Given the description of an element on the screen output the (x, y) to click on. 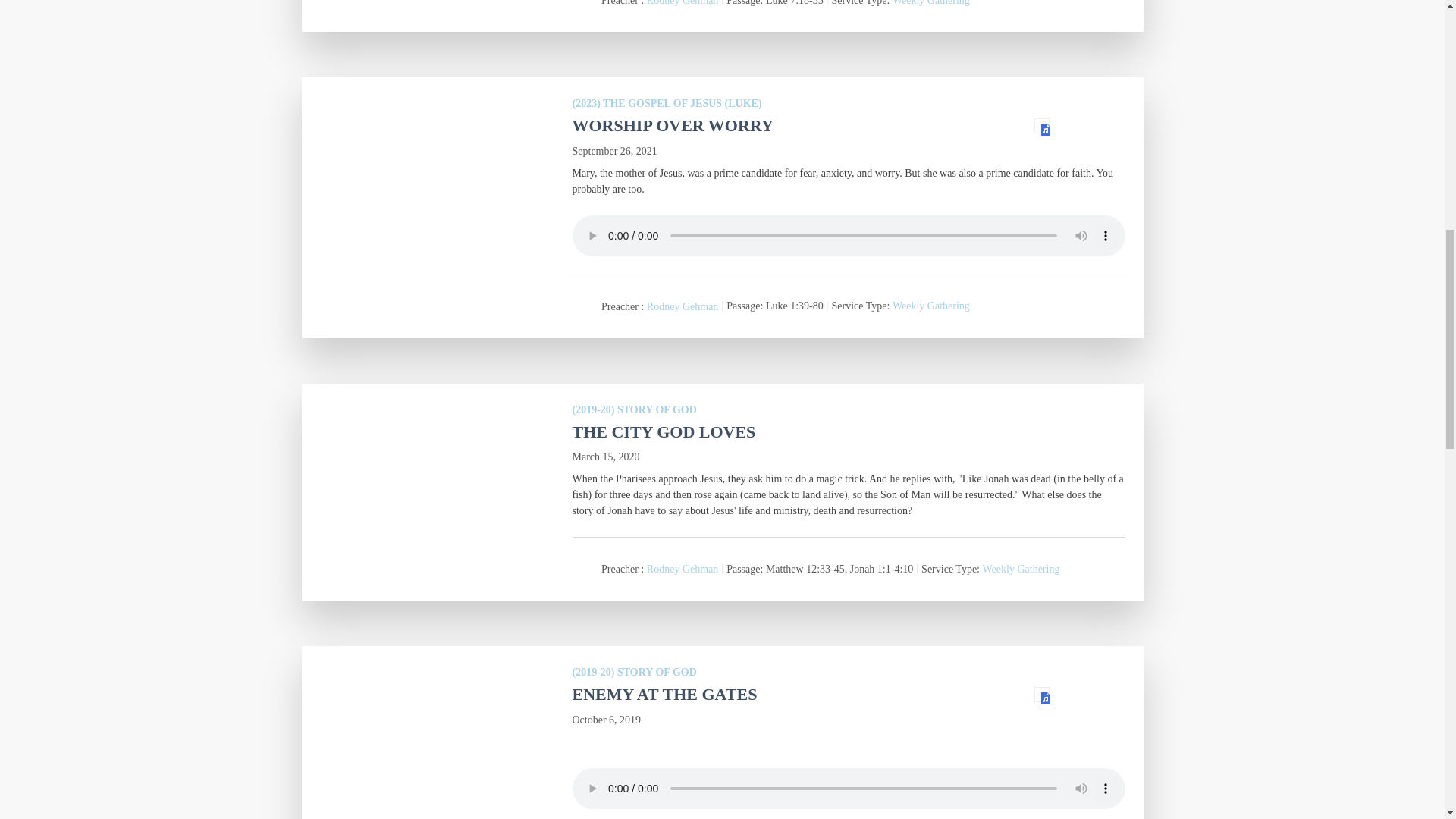
Rodney Gehman (681, 306)
Weekly Gathering (930, 306)
Weekly Gathering (930, 2)
Rodney Gehman (681, 2)
WORSHIP OVER WORRY (672, 125)
Audio (1041, 125)
Audio (1041, 694)
THE CITY GOD LOVES (663, 431)
